Given the description of an element on the screen output the (x, y) to click on. 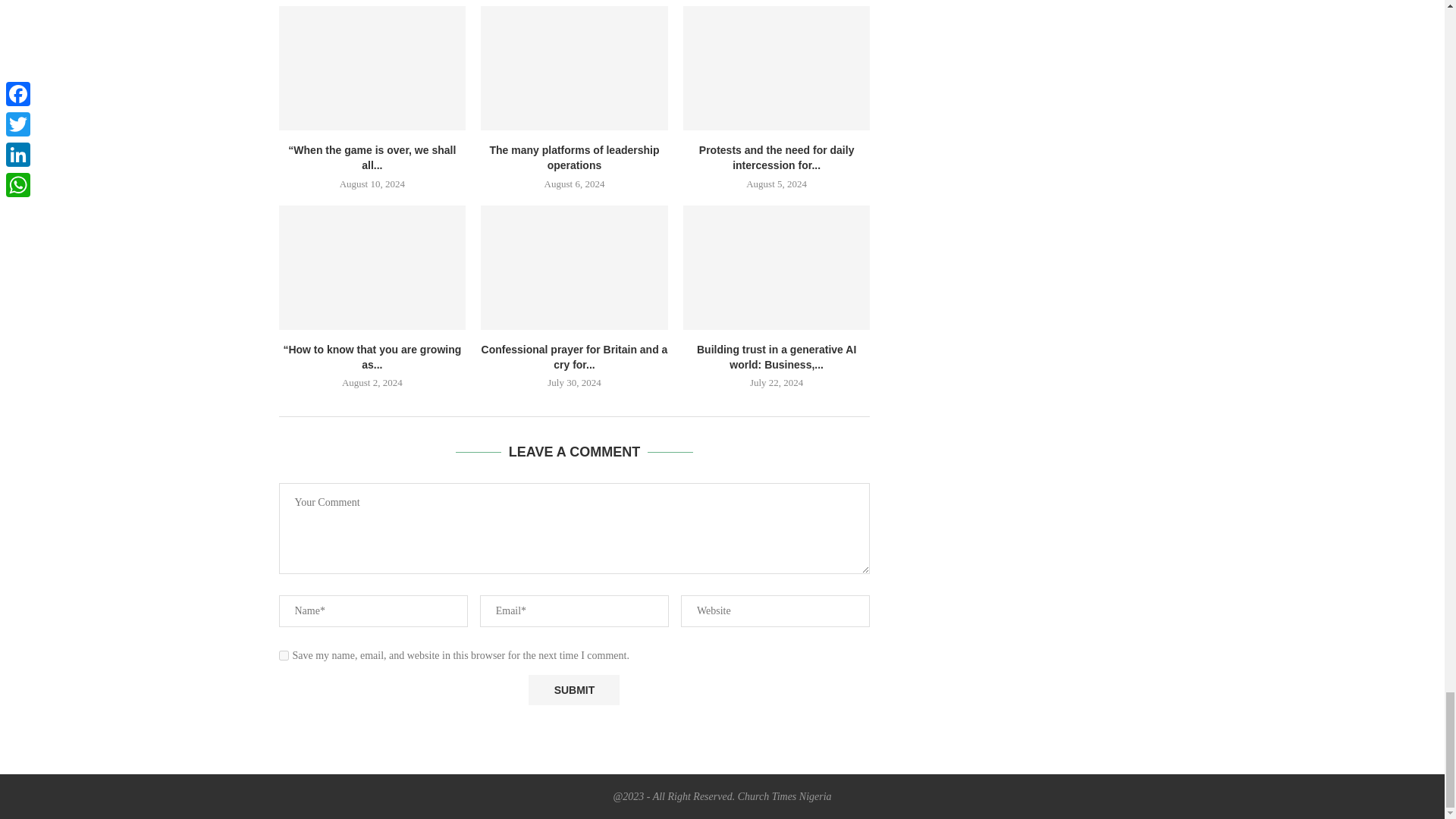
The many platforms of leadership operations (574, 67)
Protests and the need for daily intercession for Nigeria (776, 67)
Submit (574, 689)
yes (283, 655)
